Given the description of an element on the screen output the (x, y) to click on. 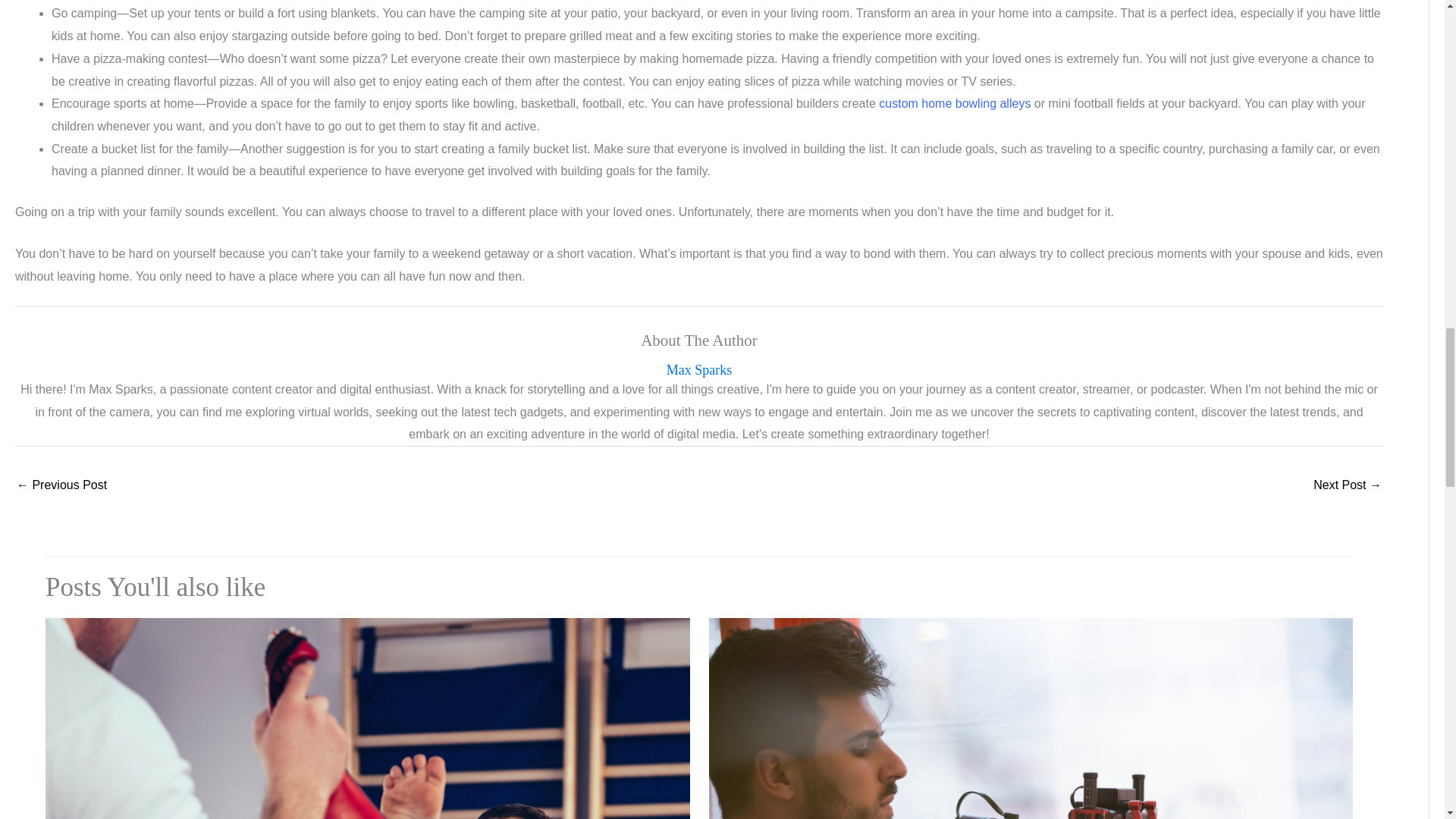
Software Companies: How to Engage Small Businesses (1347, 486)
custom home bowling alleys (954, 103)
Max Sparks (698, 370)
Five Easy Ways to Get a Good-Value Mortgage Rate (61, 486)
All American Bowling Equipment (954, 103)
